Given the description of an element on the screen output the (x, y) to click on. 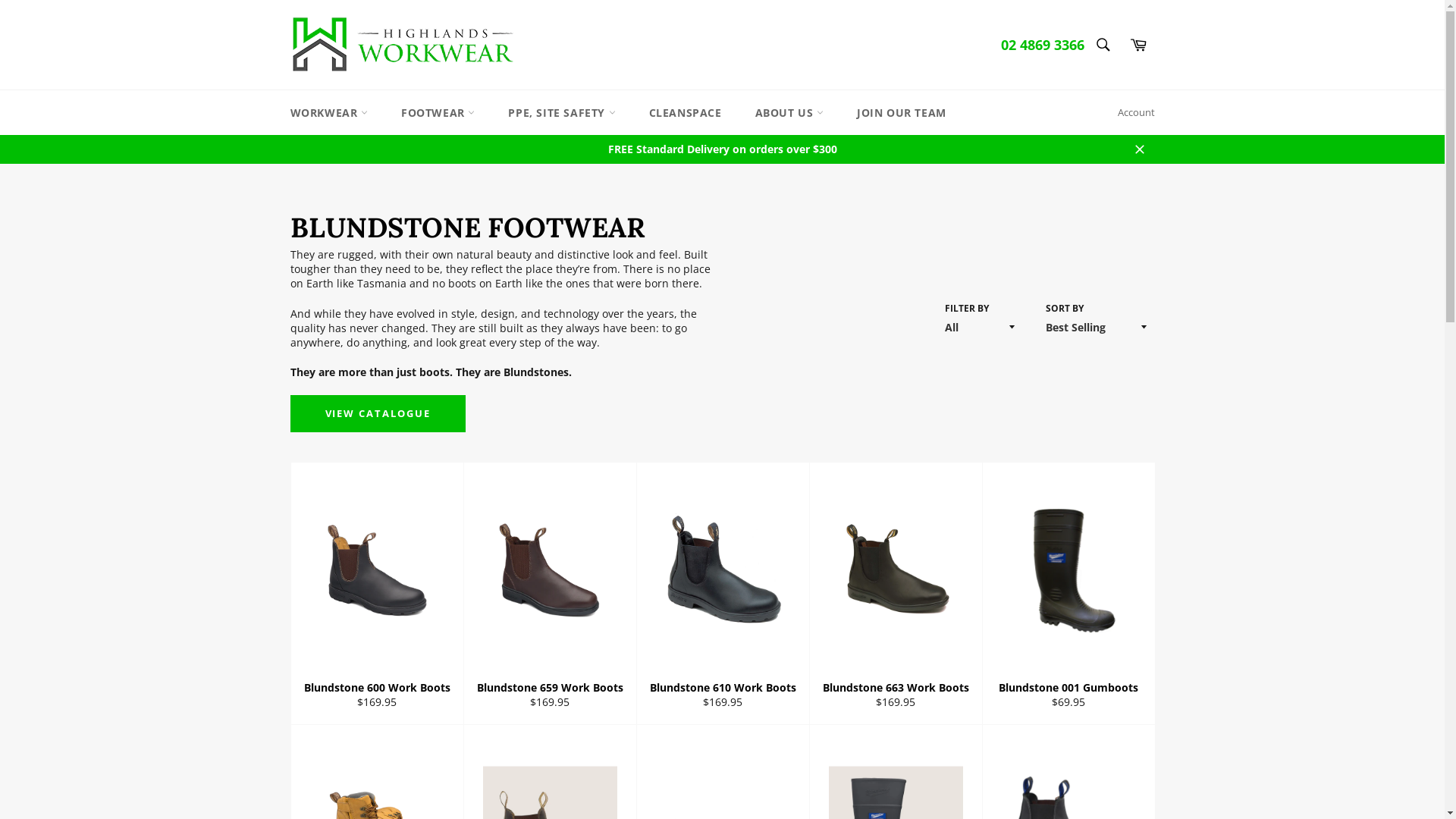
02 4869 3366 Element type: text (1042, 44)
WORKWEAR Element type: text (328, 112)
VIEW CATALOGUE Element type: text (376, 413)
Search Element type: text (1103, 44)
Account Element type: text (1136, 112)
FOOTWEAR Element type: text (437, 112)
ABOUT US Element type: text (789, 112)
PPE, SITE SAFETY Element type: text (561, 112)
CLEANSPACE Element type: text (685, 112)
Blundstone 610 Work Boots
Regular price
$169.95 Element type: text (721, 593)
Blundstone 600 Work Boots
Regular price
$169.95 Element type: text (375, 593)
Cart Element type: text (1138, 44)
Blundstone 001 Gumboots
Regular price
$69.95 Element type: text (1067, 593)
Blundstone 659 Work Boots
Regular price
$169.95 Element type: text (548, 593)
Close Element type: text (1138, 148)
Blundstone 663 Work Boots
Regular price
$169.95 Element type: text (894, 593)
JOIN OUR TEAM Element type: text (901, 112)
